Given the description of an element on the screen output the (x, y) to click on. 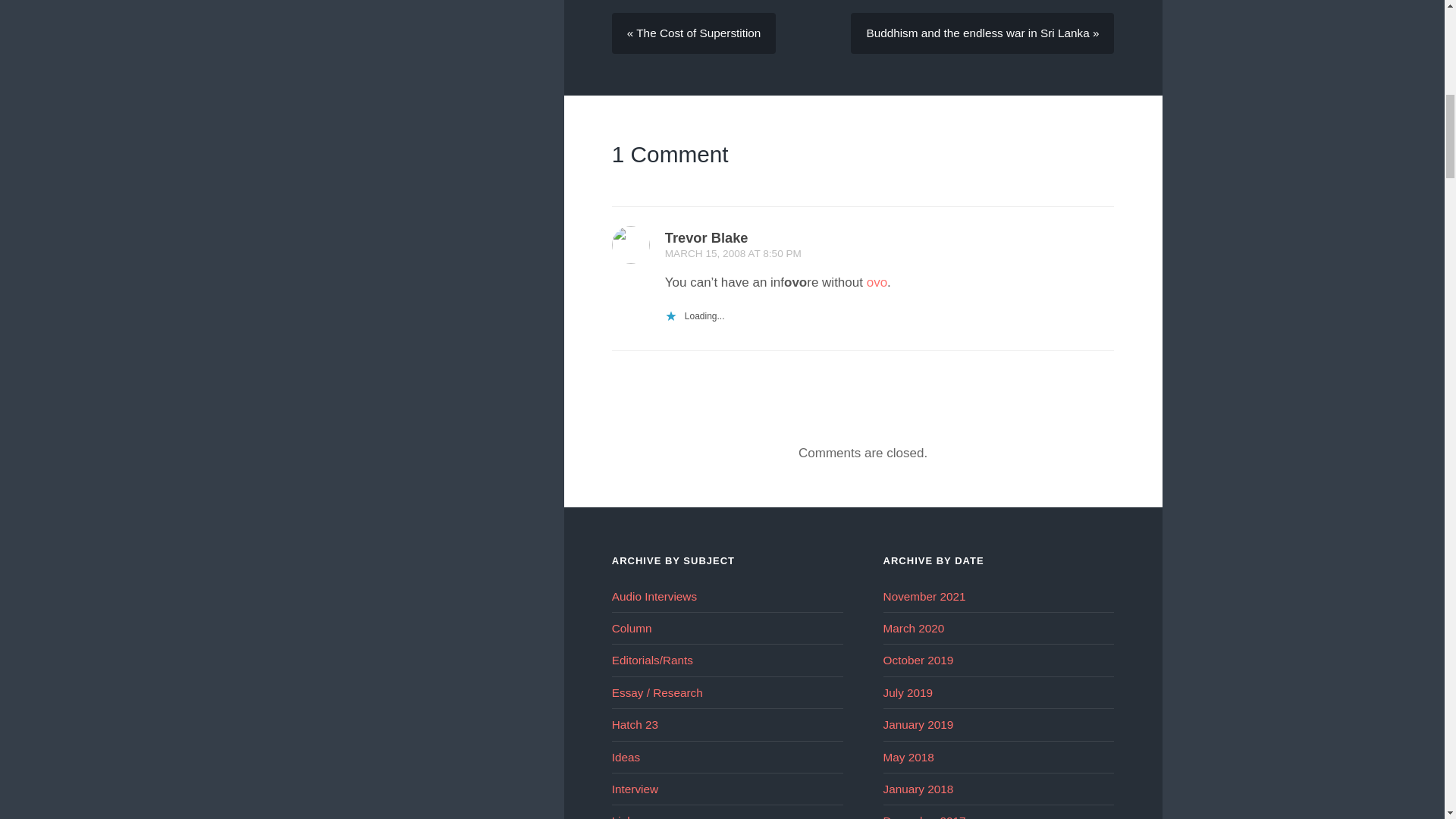
ovo (876, 282)
Audio Interviews (654, 595)
Ideas (625, 757)
Trevor Blake (706, 237)
Column (631, 627)
Link (622, 816)
MARCH 15, 2008 AT 8:50 PM (733, 253)
Hatch 23 (634, 724)
Next post: Buddhism and the endless war in Sri Lanka (981, 33)
Previous post: The Cost of Superstition (693, 33)
